Given the description of an element on the screen output the (x, y) to click on. 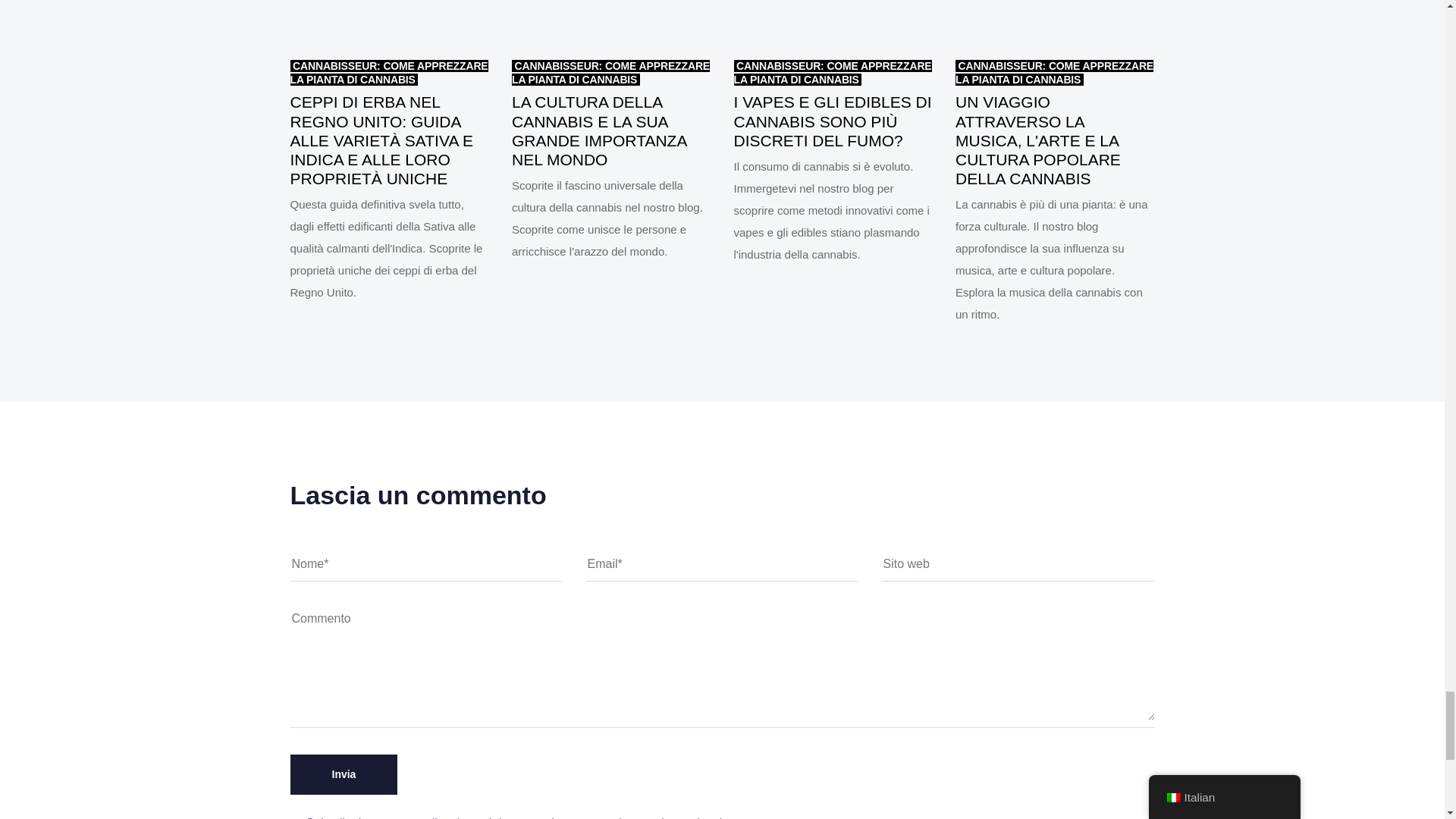
Invia (343, 774)
